Given the description of an element on the screen output the (x, y) to click on. 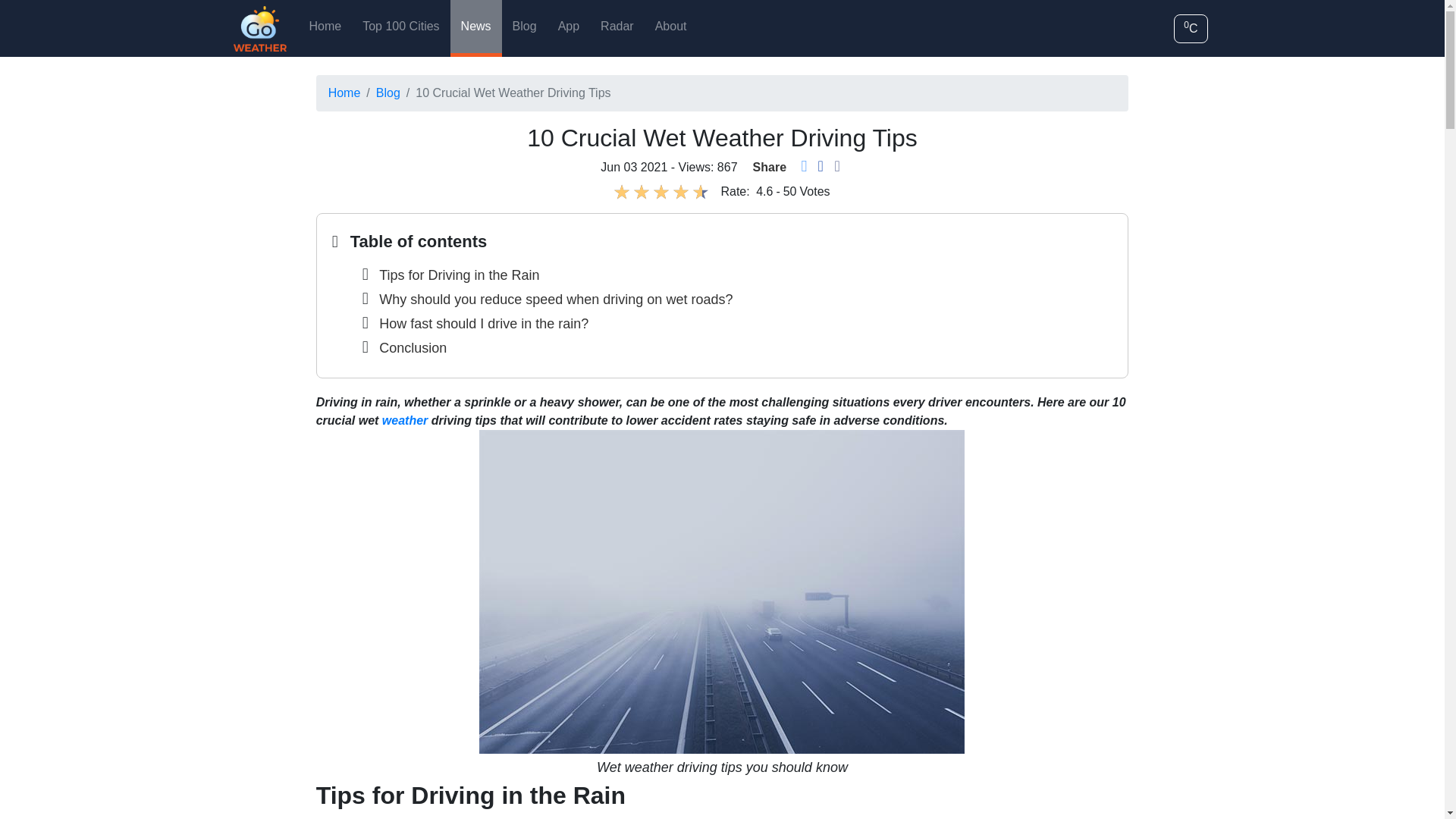
How fast should I drive in the rain? (483, 323)
About (671, 26)
weather (404, 420)
News (475, 26)
Tips for Driving in the Rain (458, 274)
Why should you reduce speed when driving on wet roads? (555, 299)
Home (324, 26)
Blog (524, 26)
messages.share (836, 166)
Top 100 Cities (400, 26)
Conclusion (412, 347)
Blog (387, 92)
Radar (617, 26)
Home (345, 92)
App (568, 26)
